Given the description of an element on the screen output the (x, y) to click on. 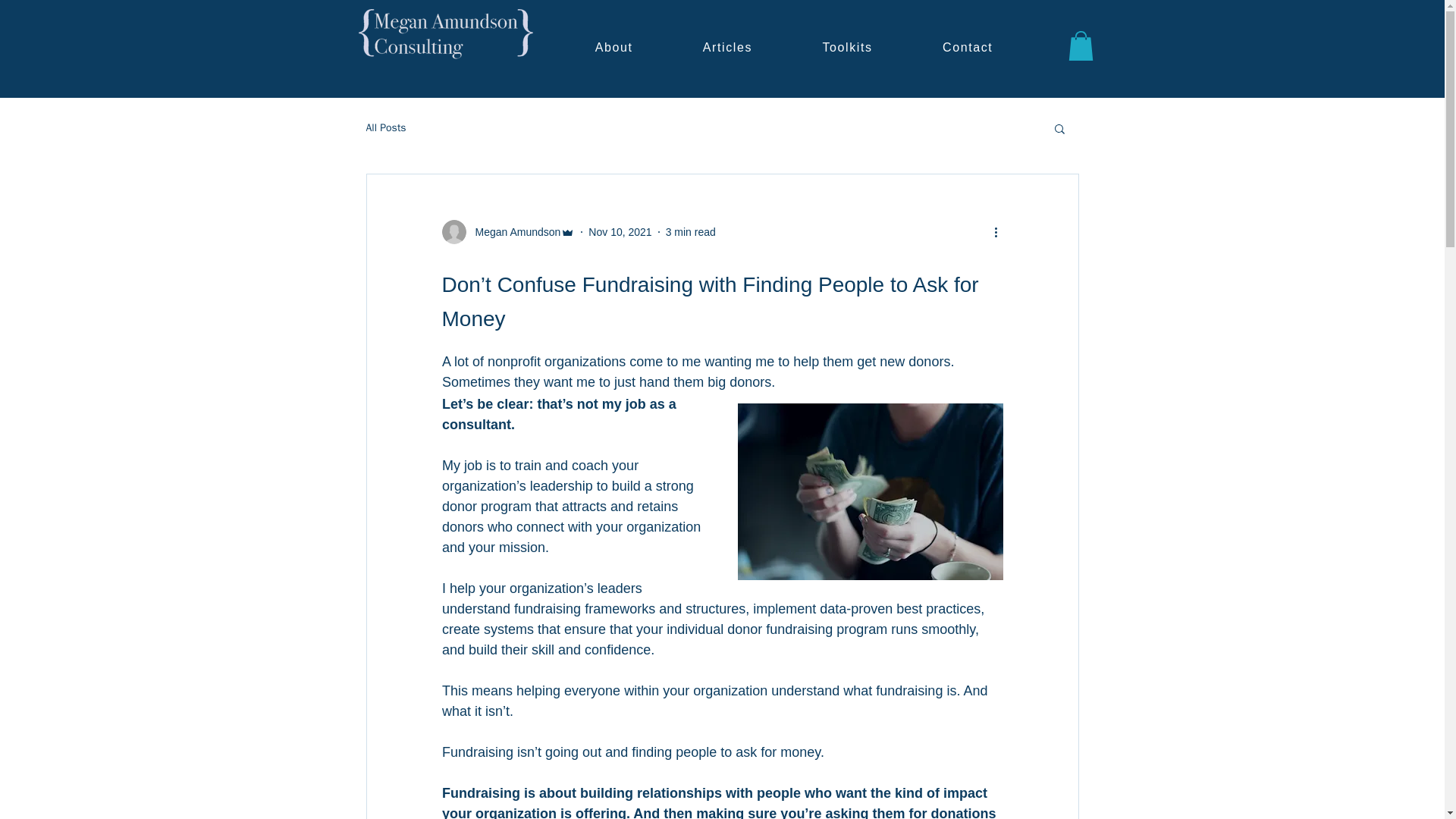
About (612, 48)
All Posts (385, 128)
Articles (727, 48)
Megan Amundson (508, 232)
Nov 10, 2021 (619, 232)
Megan Amundson (512, 232)
3 min read (690, 232)
Contact (968, 48)
